Given the description of an element on the screen output the (x, y) to click on. 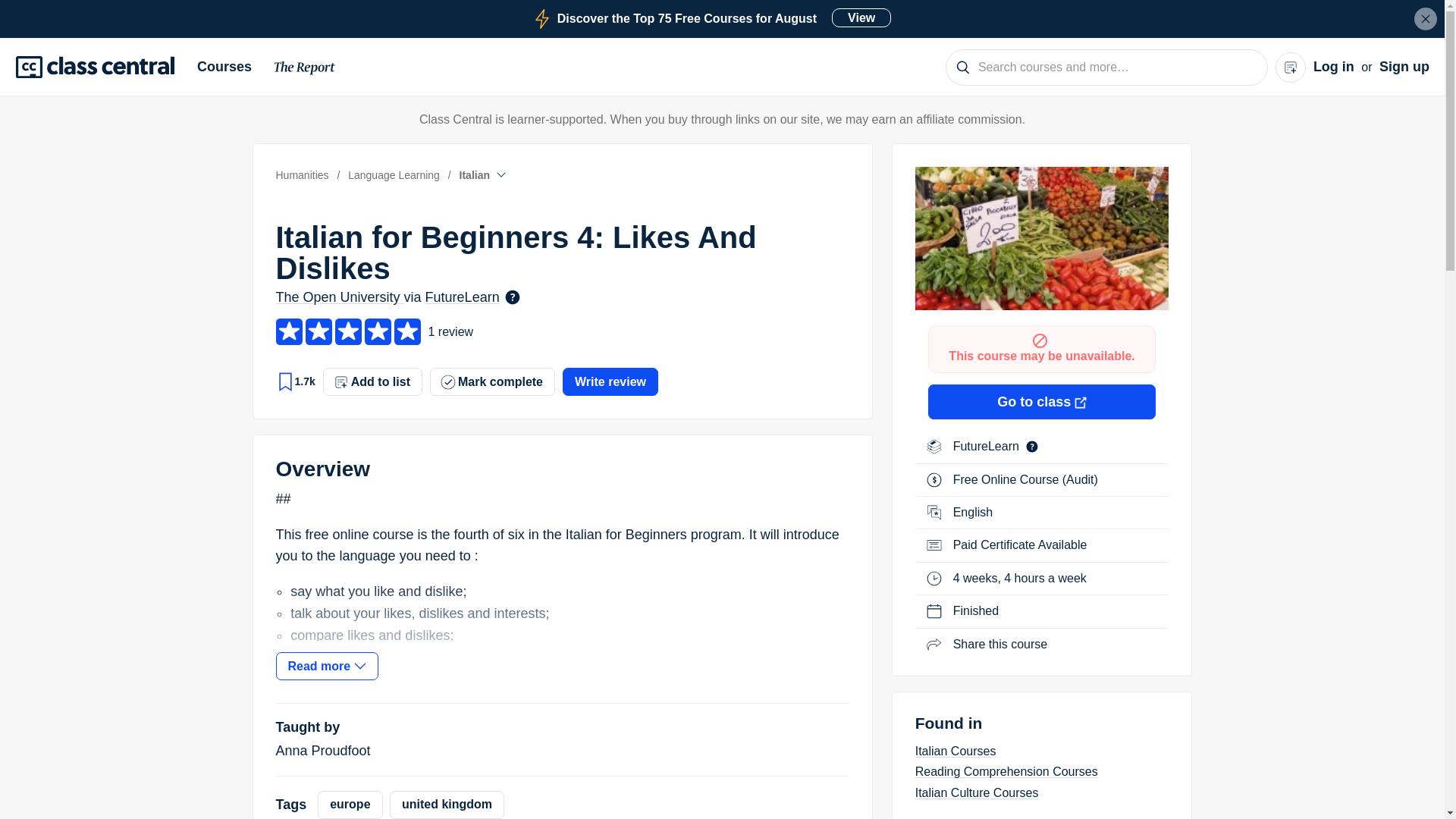
Courses (229, 66)
The Report (711, 18)
Close (304, 69)
List of FutureLearn MOOCs (1425, 18)
